Given the description of an element on the screen output the (x, y) to click on. 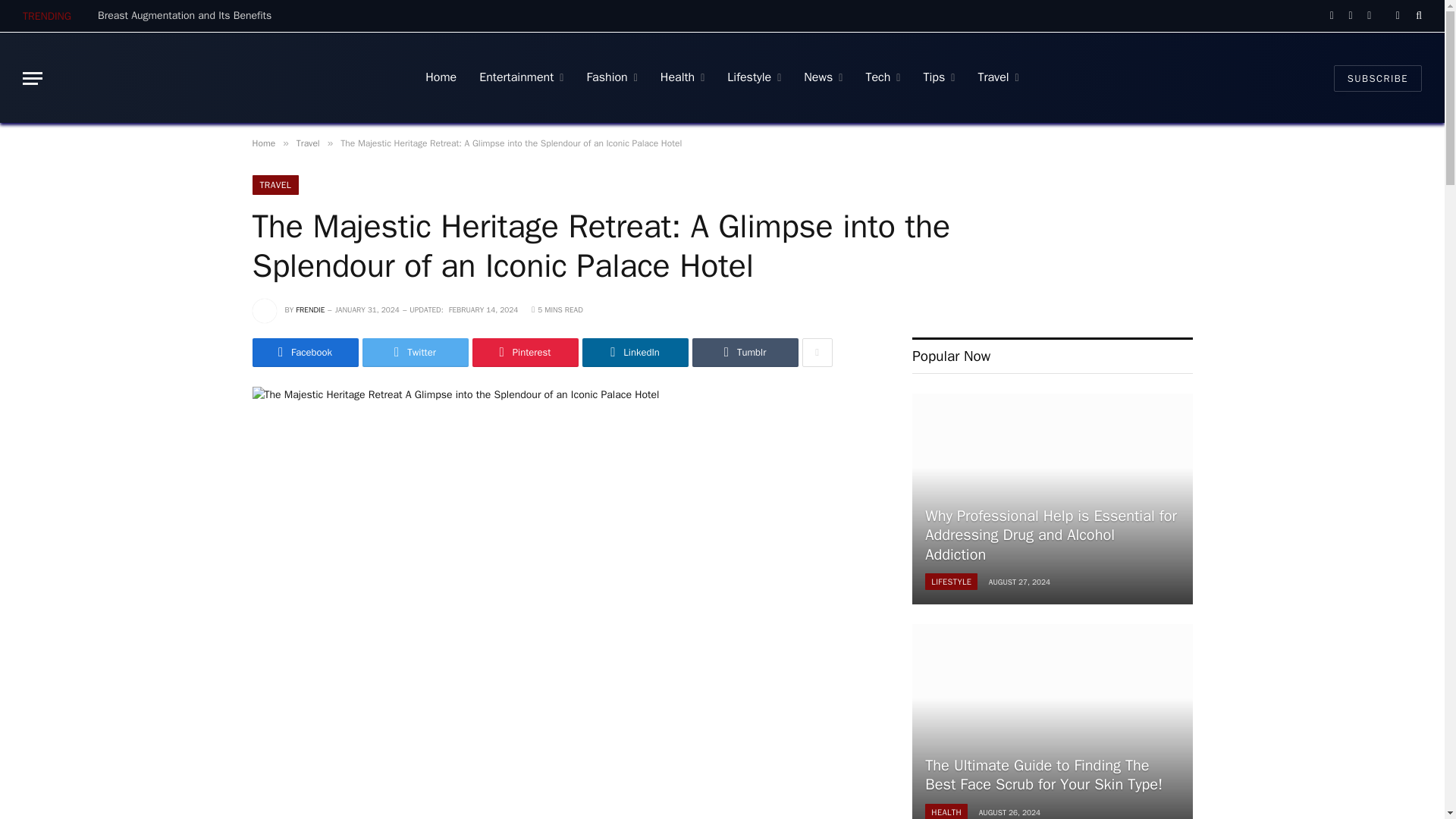
Breast Augmentation and Its Benefits (188, 15)
AxomLyrics (206, 77)
Entertainment (521, 77)
Switch to Dark Design - easier on eyes. (1397, 15)
